Given the description of an element on the screen output the (x, y) to click on. 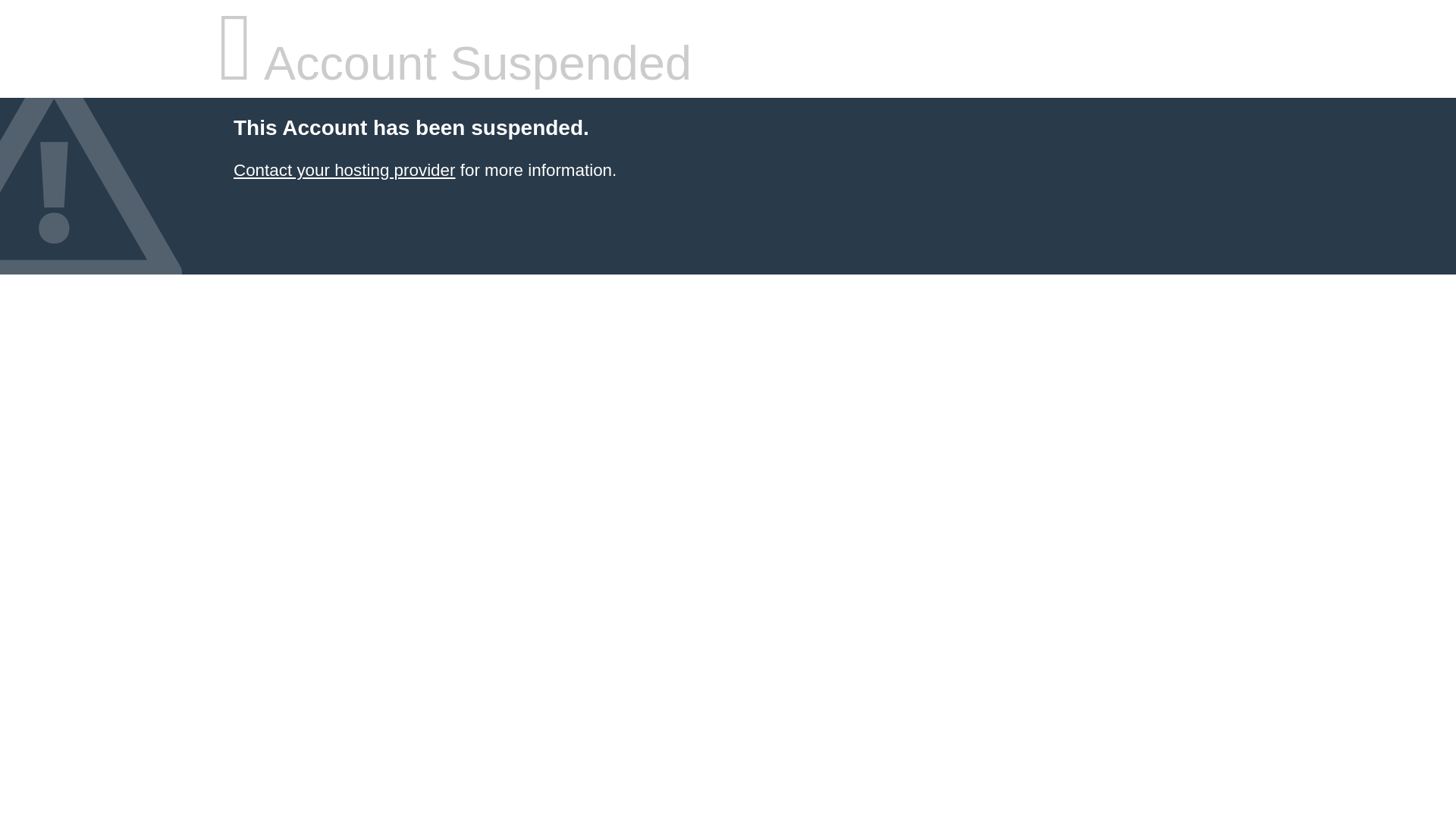
Contact your hosting provider (343, 169)
